Given the description of an element on the screen output the (x, y) to click on. 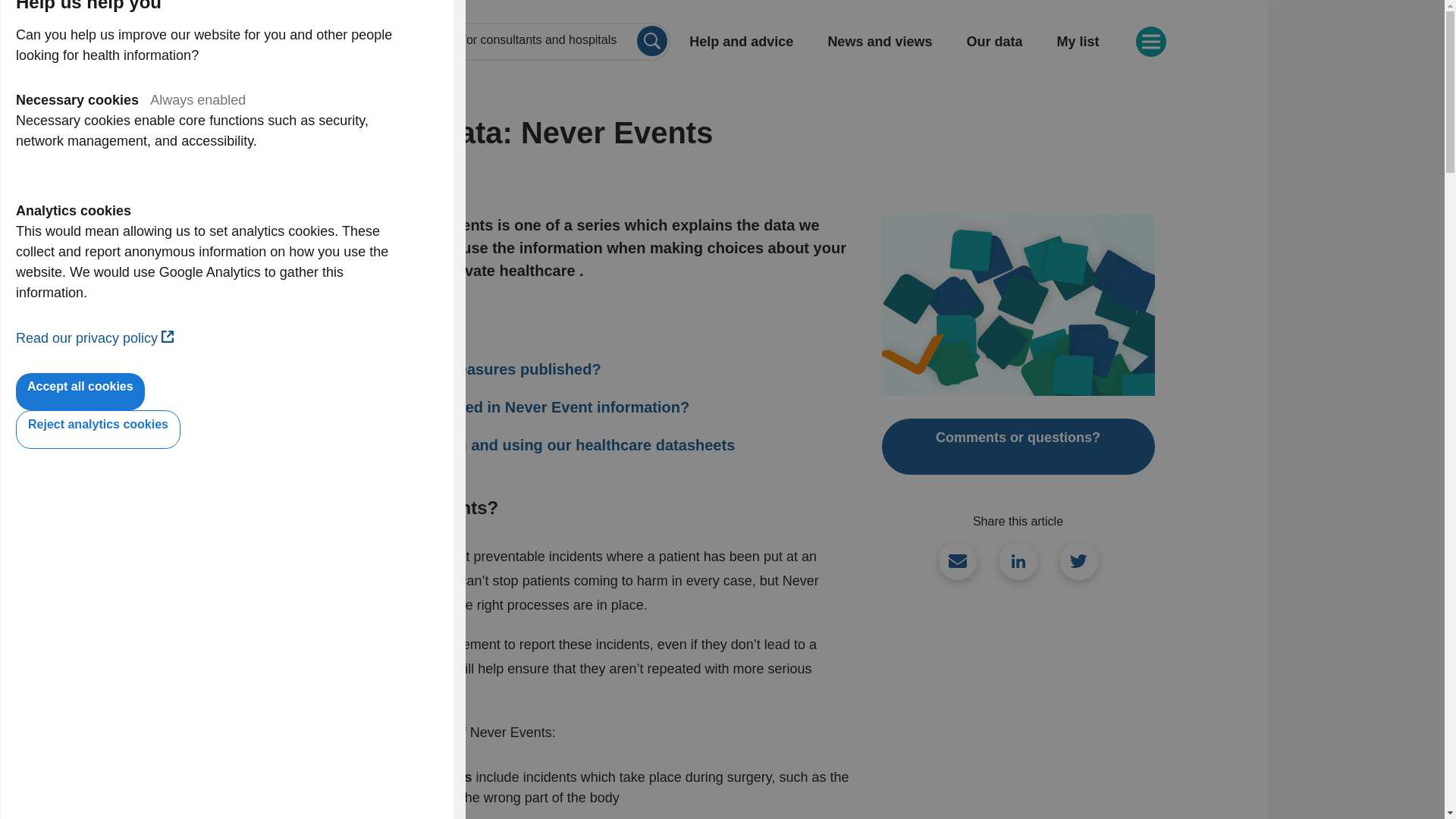
Read our privacy policy (94, 337)
News and views (879, 41)
Our data (993, 41)
My list (1080, 41)
Help and advice (738, 41)
Comments or questions? (1017, 446)
